Given the description of an element on the screen output the (x, y) to click on. 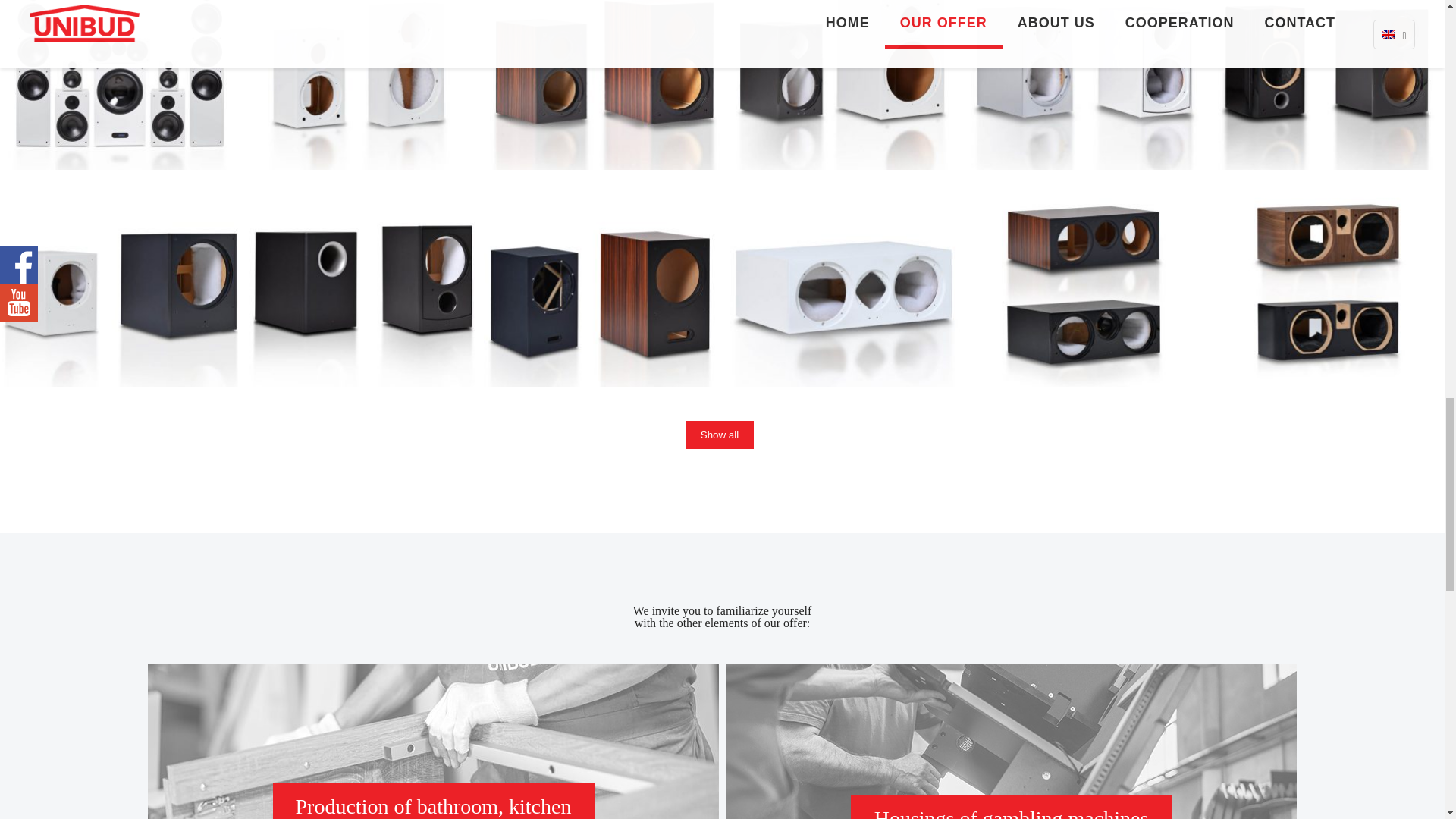
Production of bathroom, kitchen and hotel furniture (433, 741)
Show all (719, 434)
Housings of gambling machines (1011, 741)
